Given the description of an element on the screen output the (x, y) to click on. 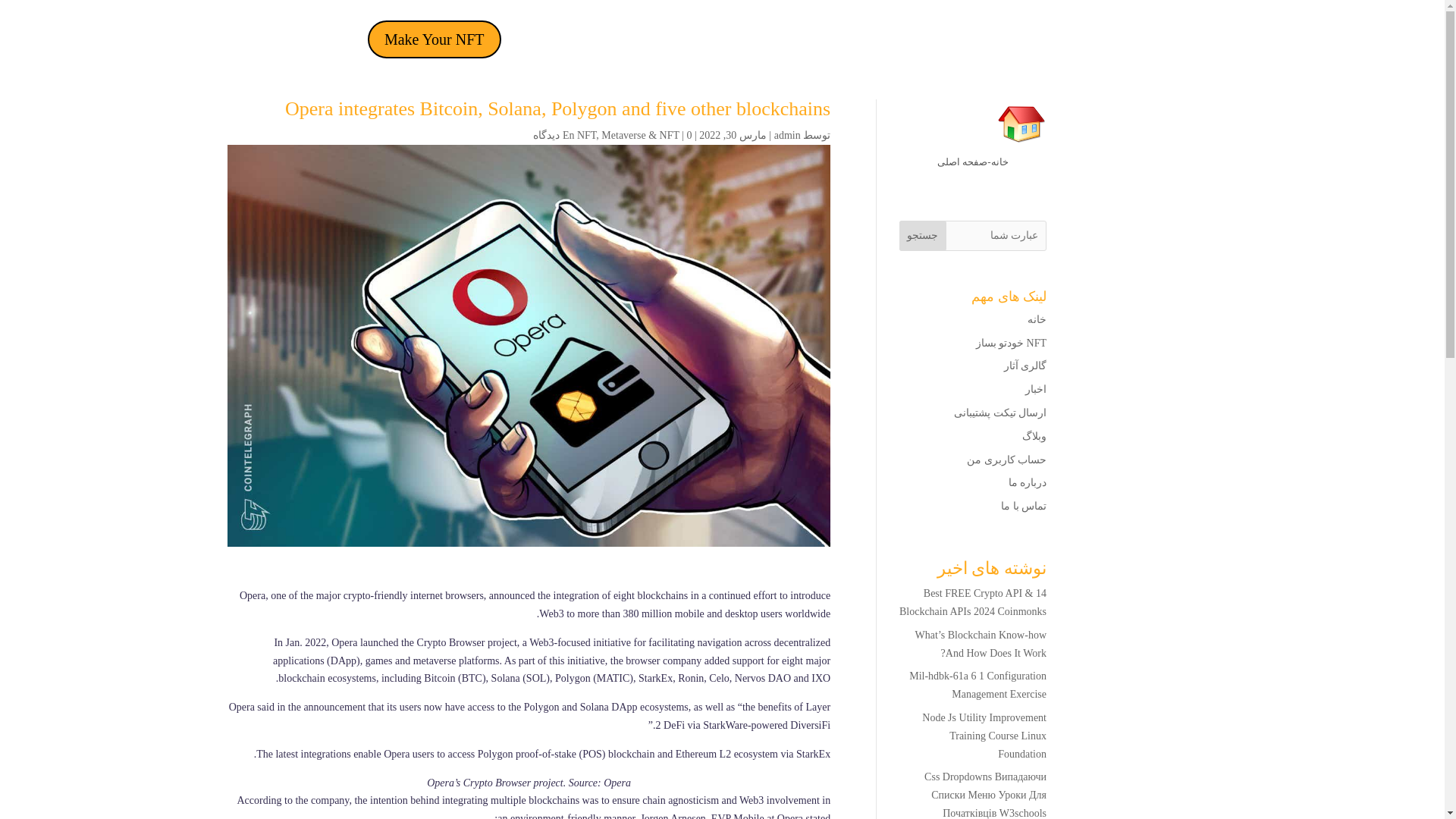
Node Js Utility Improvement Training Course Linux Foundation (983, 735)
Mil-hdbk-61a 6 1 Configuration Management Exercise (977, 685)
Make Your NFT (434, 39)
